Given the description of an element on the screen output the (x, y) to click on. 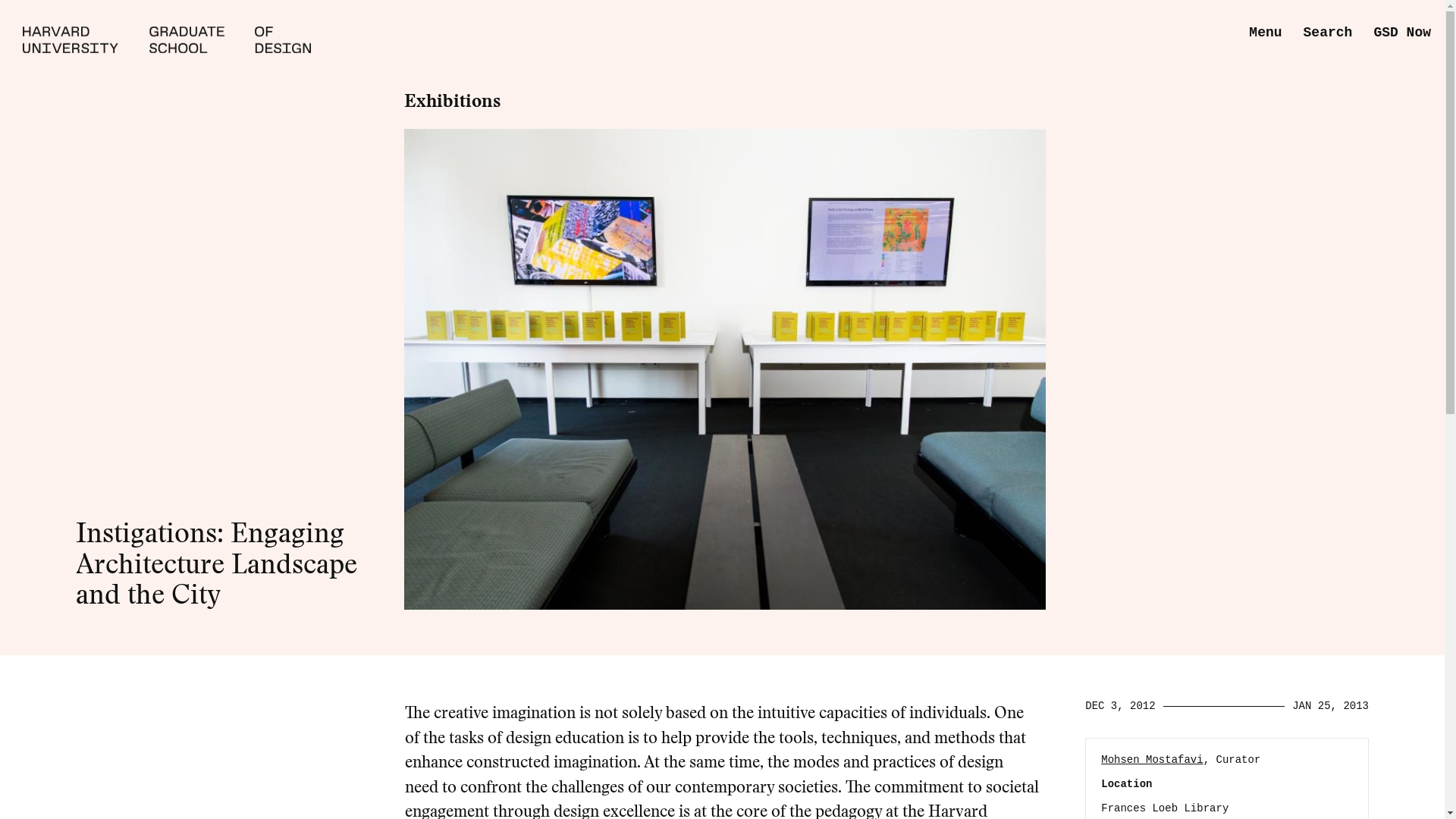
GSD Now (1402, 32)
Menu (1265, 32)
Search (1327, 32)
